Given the description of an element on the screen output the (x, y) to click on. 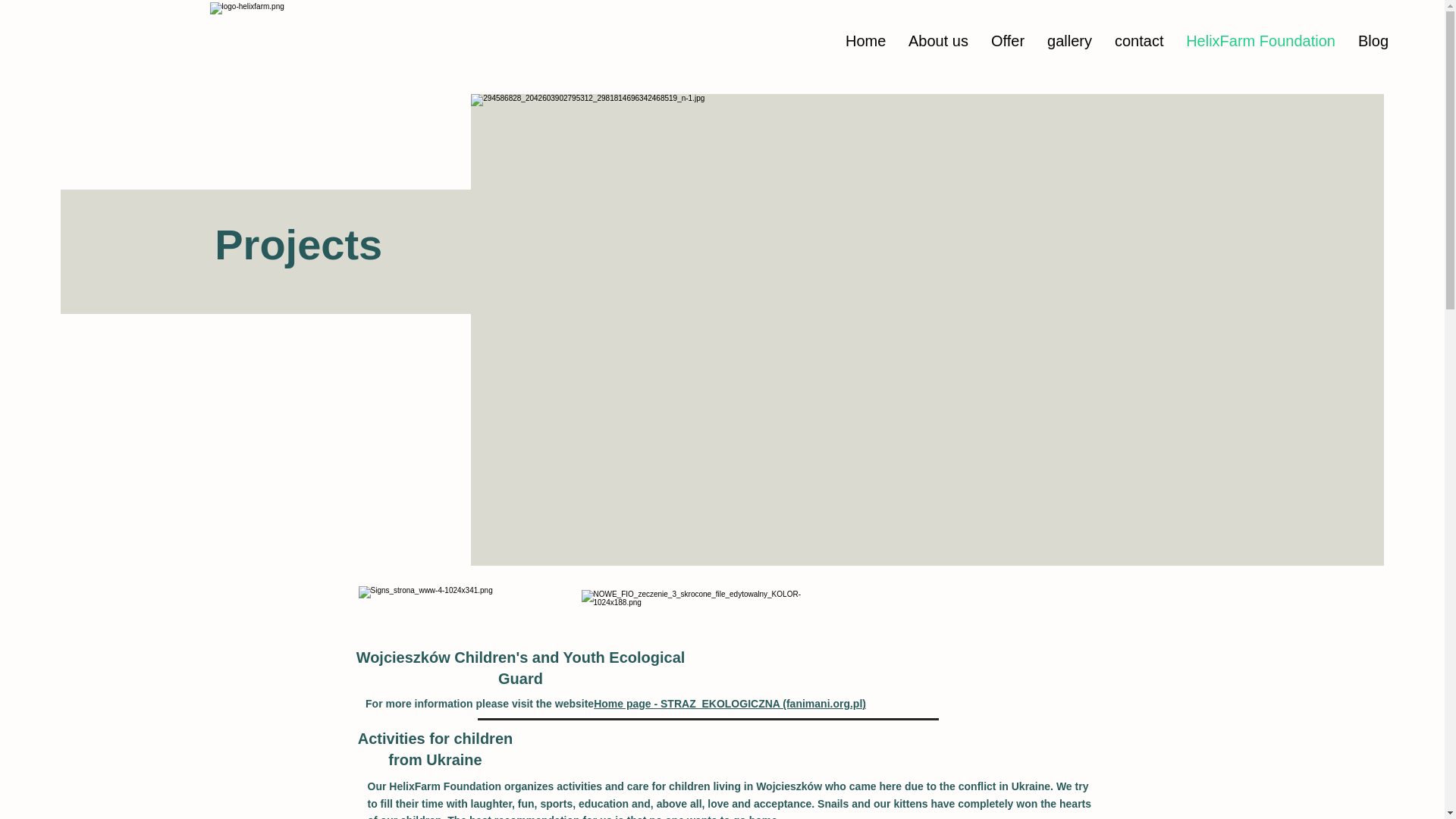
gallery (1069, 41)
contact (1138, 41)
Blog (1372, 41)
About us (937, 41)
Offer (1007, 41)
HelixFarm Foundation (1260, 41)
Home (865, 41)
logowhite.png (436, 46)
